Given the description of an element on the screen output the (x, y) to click on. 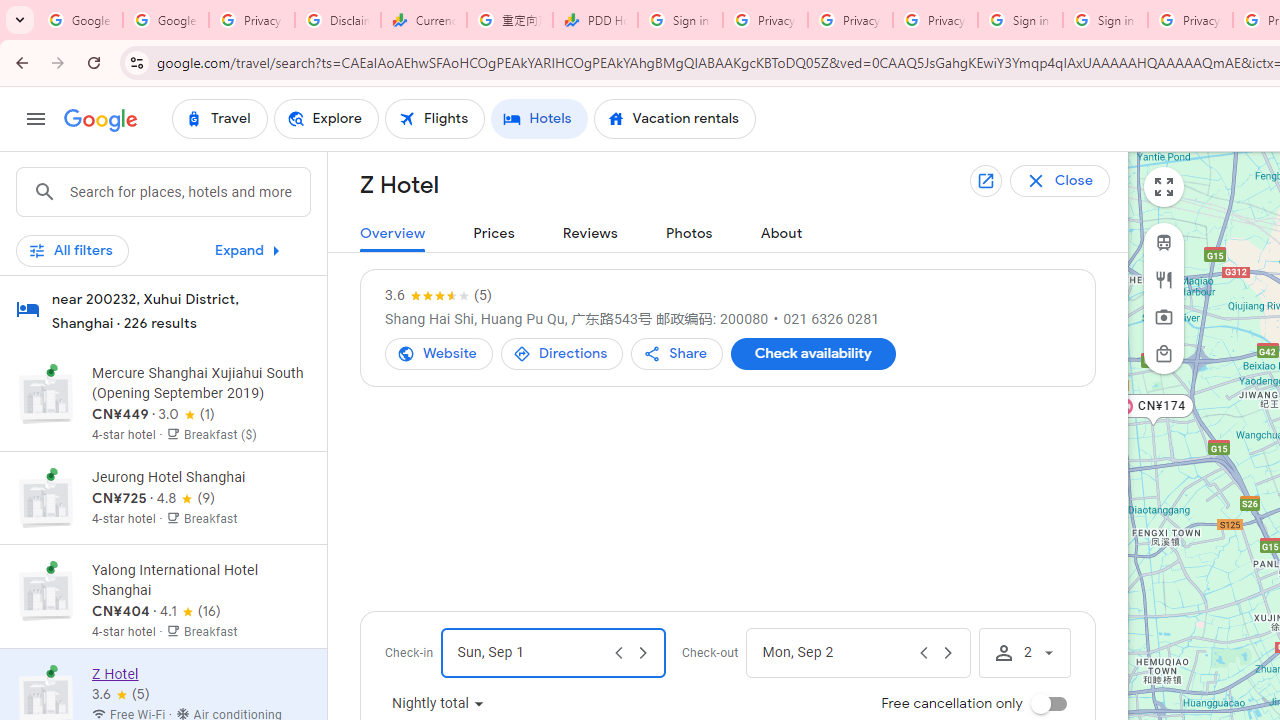
Hotels (539, 118)
Sign in - Google Accounts (1105, 20)
3.6 out of 5 stars from 5 reviews (438, 295)
Areas for shopping (1163, 353)
View larger map (1164, 187)
